Given the description of an element on the screen output the (x, y) to click on. 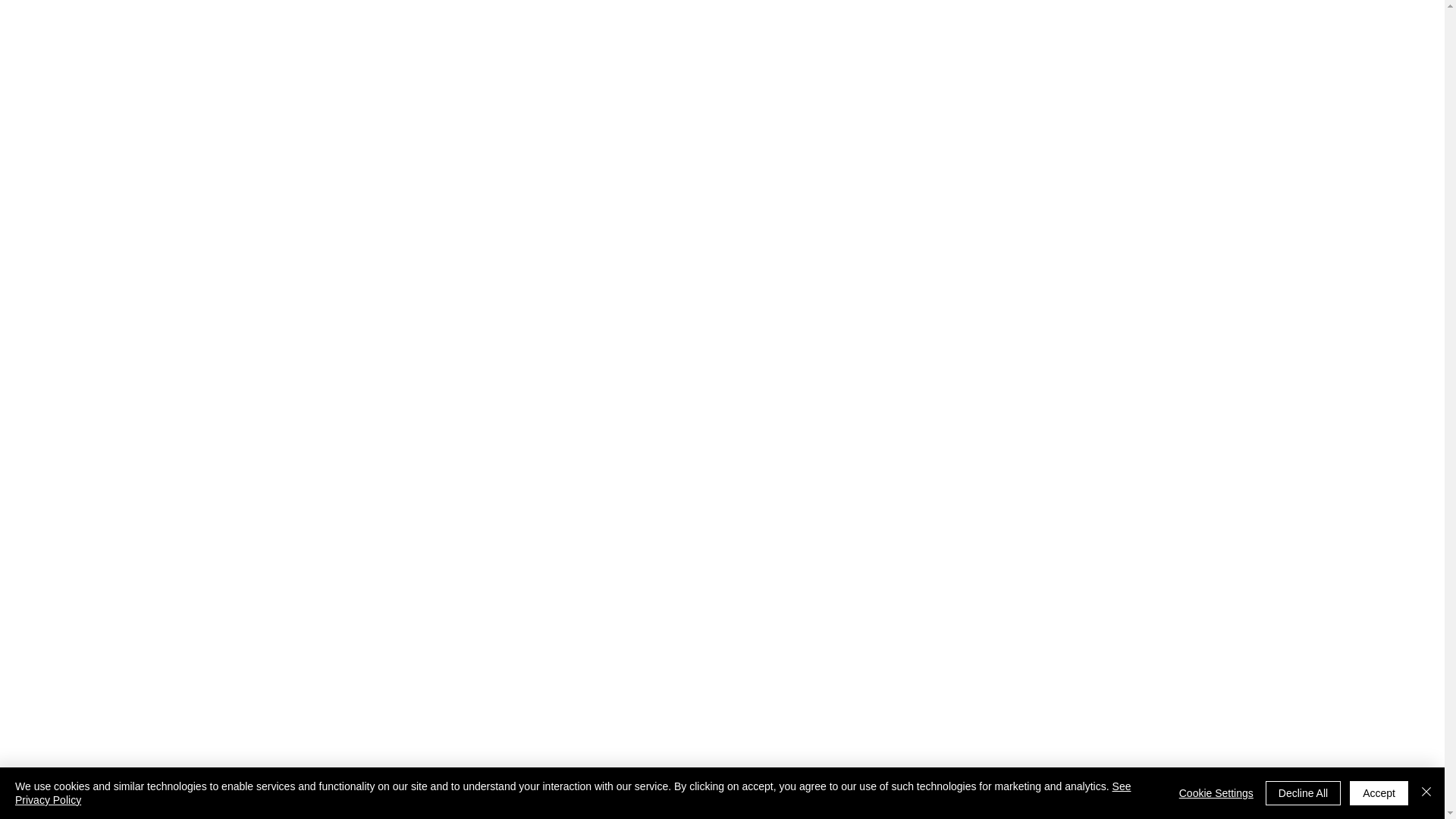
Accept (1378, 793)
See Privacy Policy (572, 792)
Decline All (1302, 793)
